Given the description of an element on the screen output the (x, y) to click on. 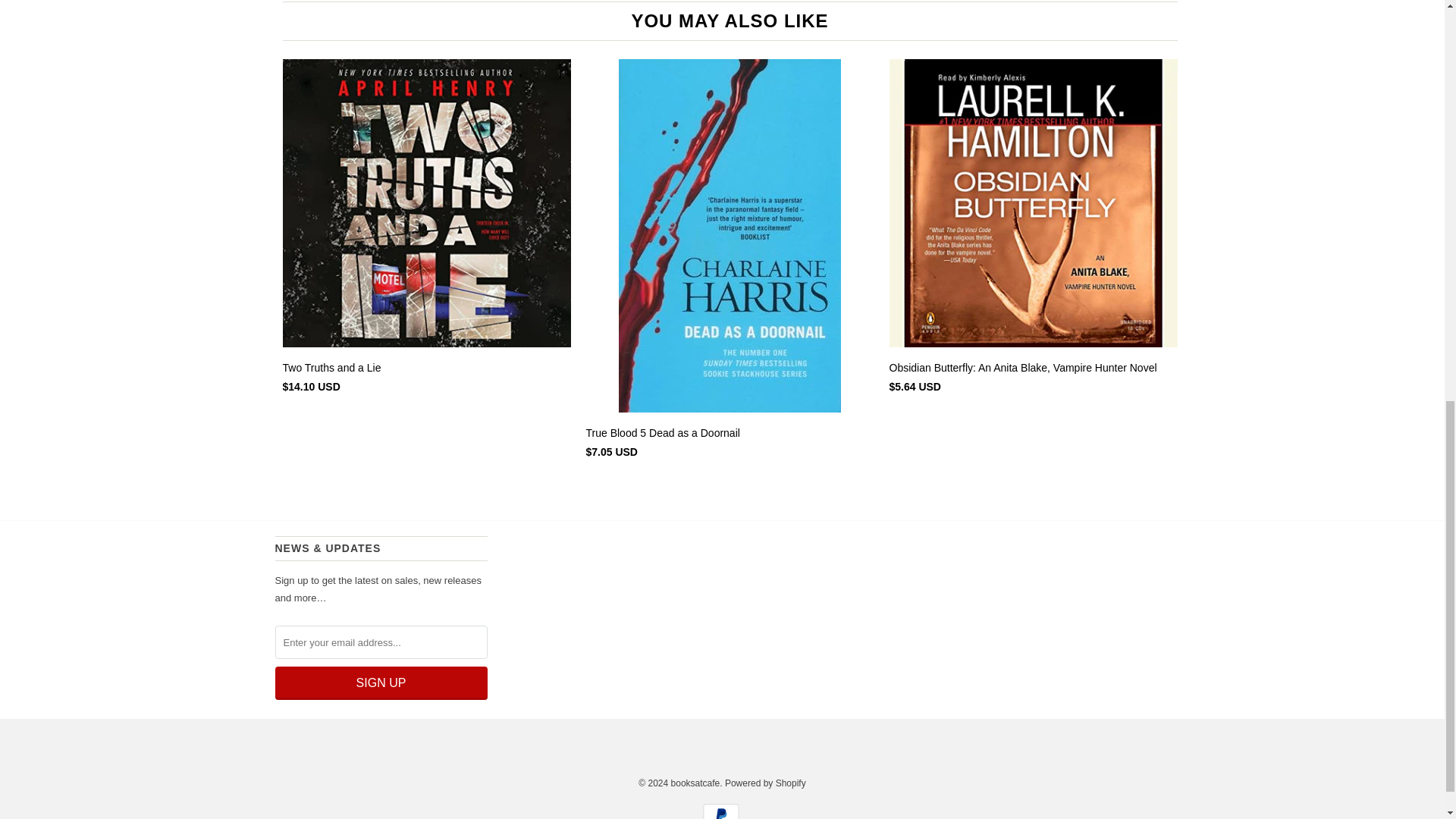
PayPal (721, 811)
Sign Up (380, 683)
